Given the description of an element on the screen output the (x, y) to click on. 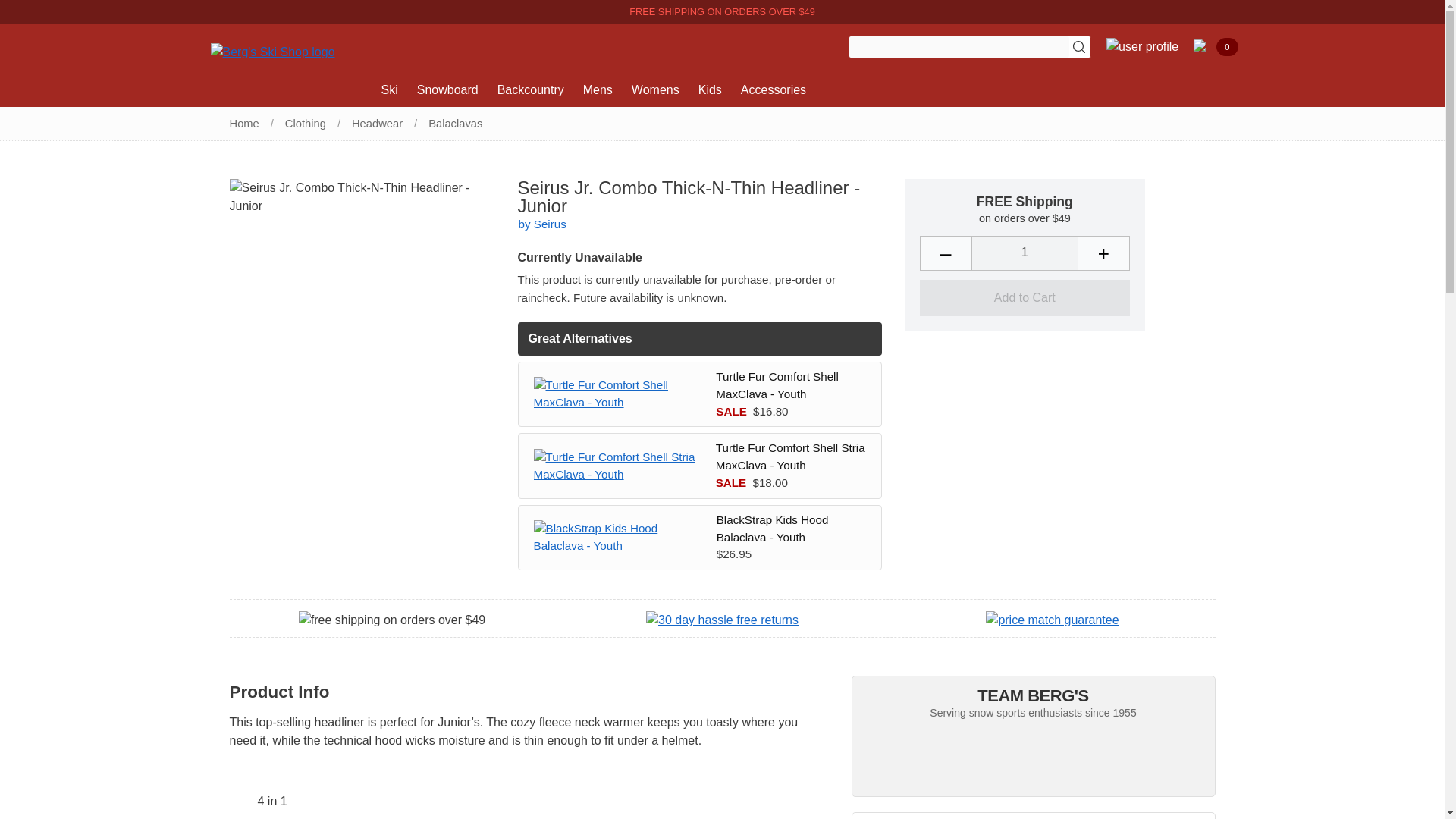
Ski (390, 90)
Backcountry (532, 90)
Backcountry Equipment (532, 90)
Snowboard (449, 90)
1 (1024, 253)
Downhill Ski Equipment (390, 90)
Kids (711, 90)
Snowboard Equipment (449, 90)
Womens (657, 90)
Accessories (774, 90)
Mens (599, 90)
Add to Cart (1023, 298)
